Given the description of an element on the screen output the (x, y) to click on. 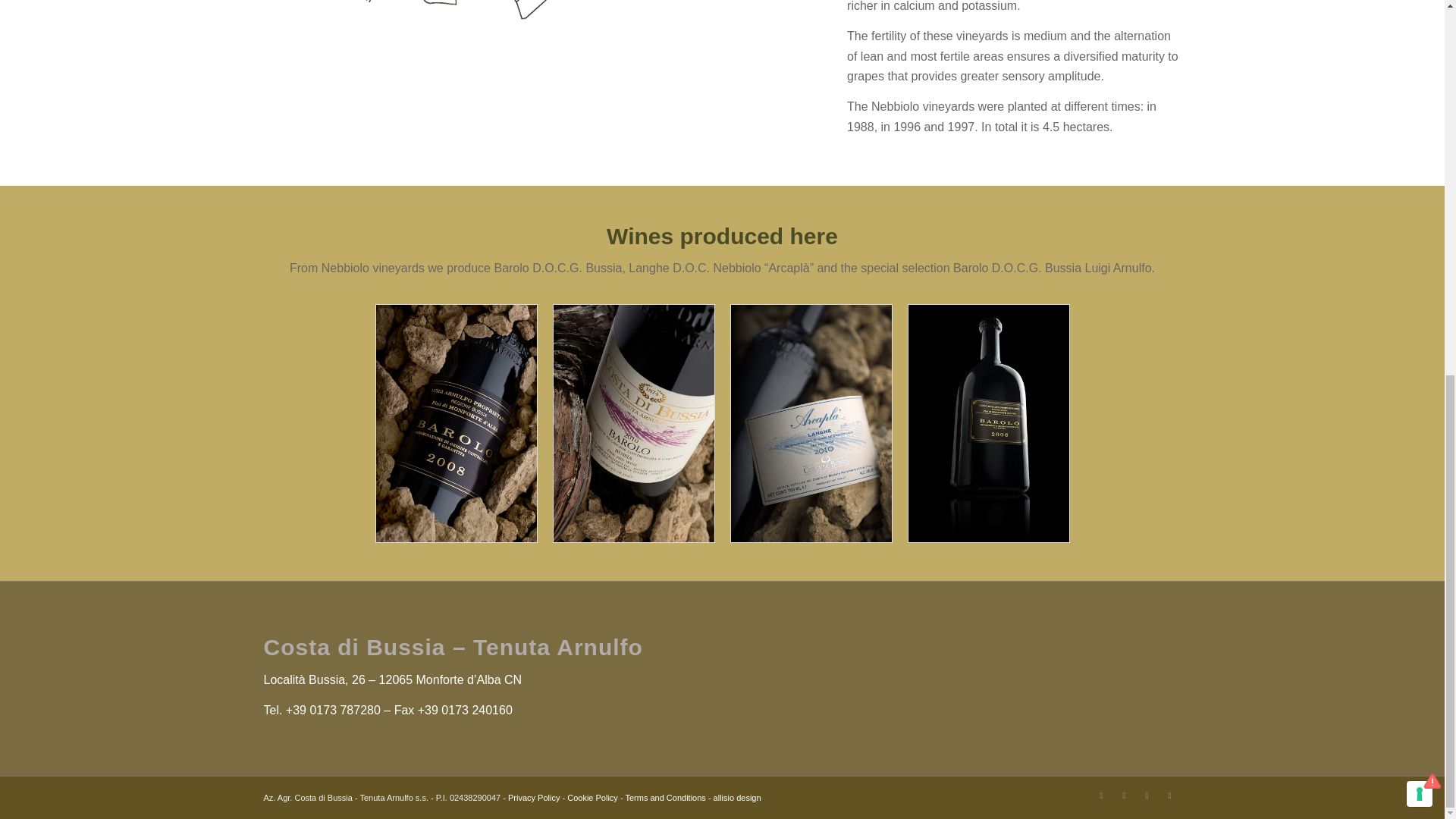
Facebook (1101, 794)
Terms and Conditions  (664, 797)
mappa-nebbiolo (527, 23)
Cookie Policy  (592, 797)
Privacy Policy  (533, 797)
